Given the description of an element on the screen output the (x, y) to click on. 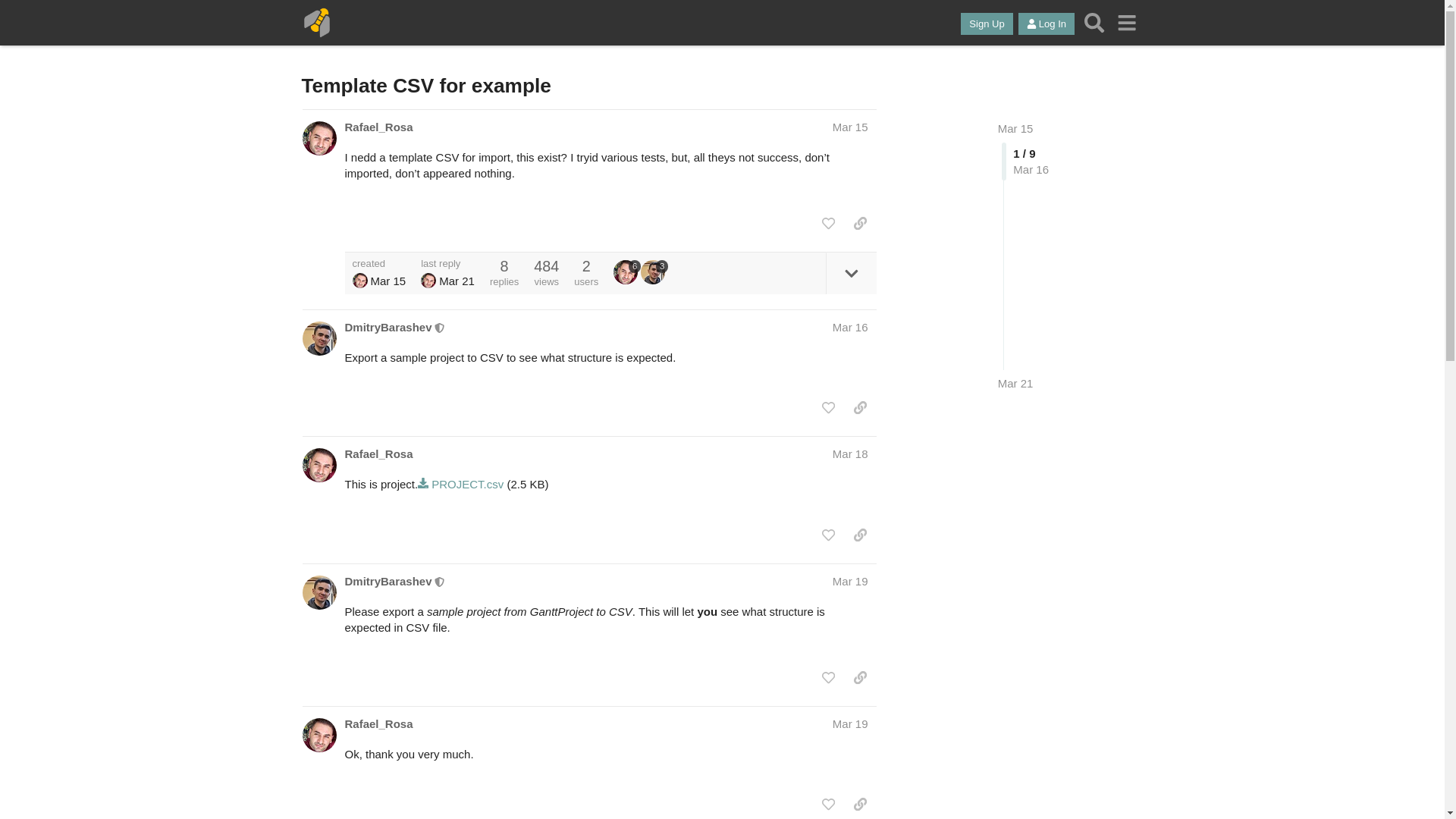
PROJECT.csv (460, 483)
Mar 15 (849, 126)
DmitryBarashev (386, 580)
last reply (447, 263)
DmitryBarashev (386, 326)
Mar 15 (1015, 128)
Log In (1045, 24)
Rafael Rosa (427, 280)
search topics, posts, users, or categories (1094, 22)
share a link to this post (860, 223)
